Given the description of an element on the screen output the (x, y) to click on. 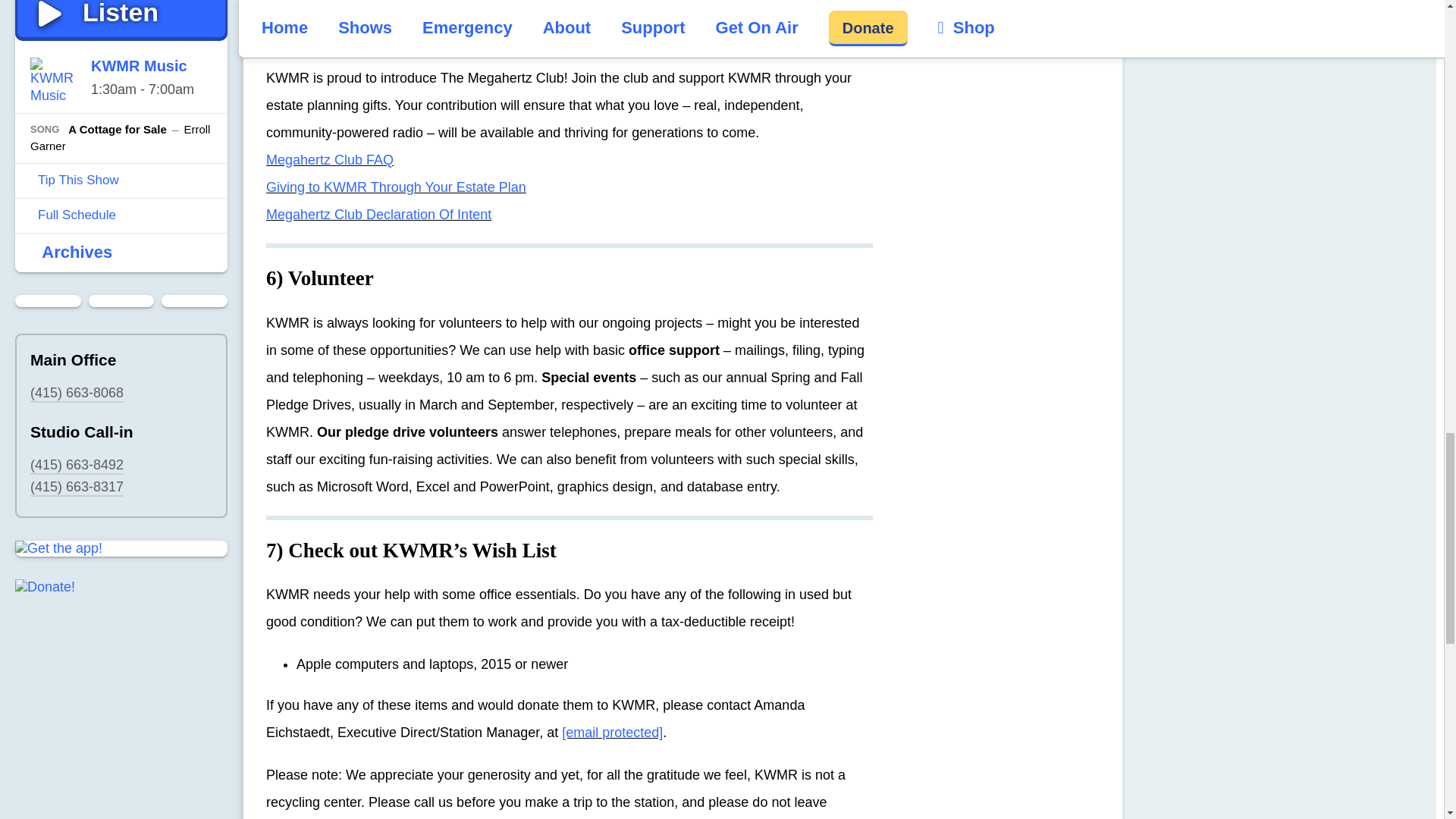
Megahertz Club Declaration Of Intent (379, 214)
Megahertz Club FAQ (329, 159)
Giving to KWMR Through Your Estate Plan (395, 186)
